Given the description of an element on the screen output the (x, y) to click on. 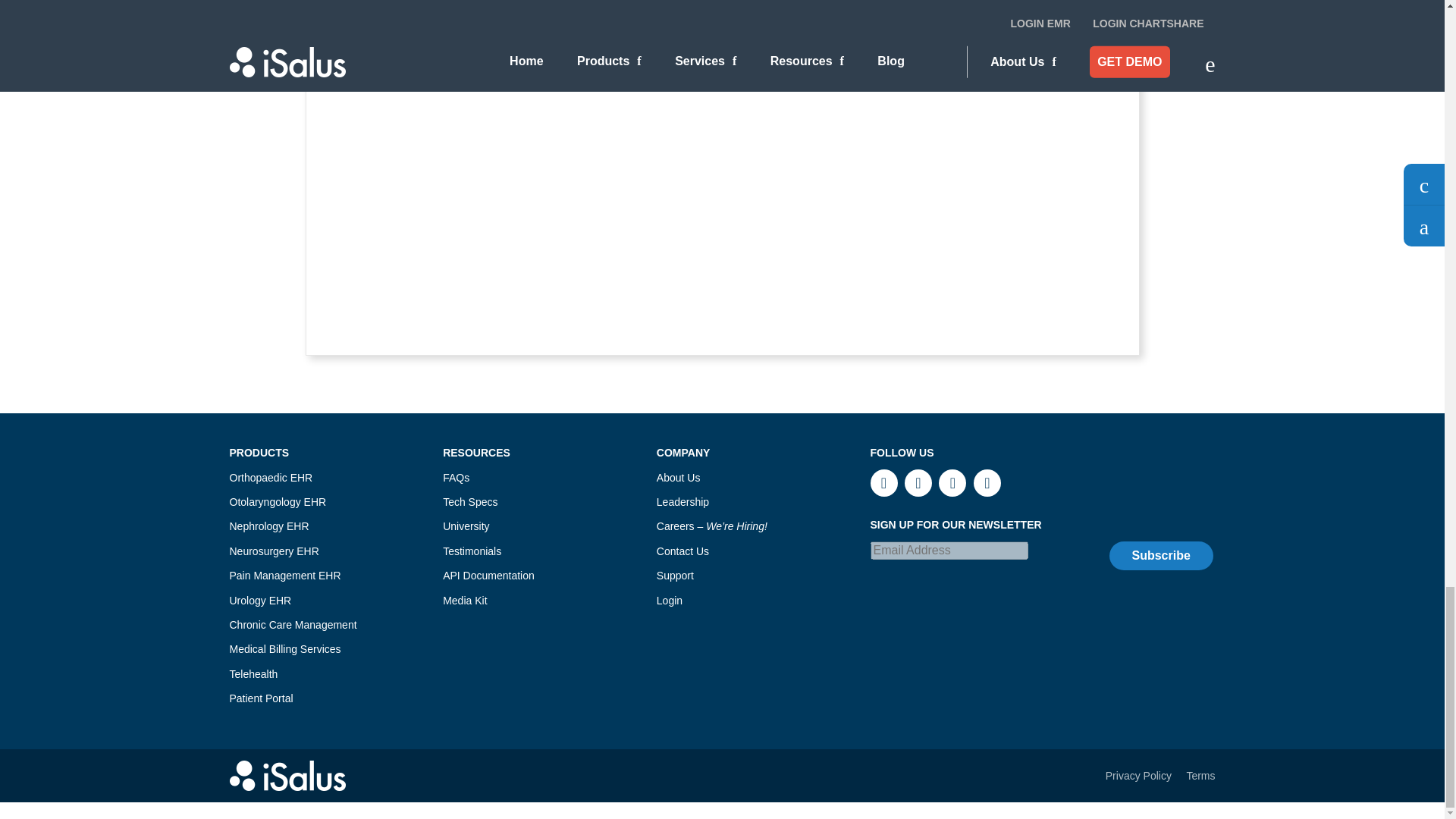
quote2 (1073, 1)
YouTube video player (548, 199)
Subscribe (1160, 555)
